Given the description of an element on the screen output the (x, y) to click on. 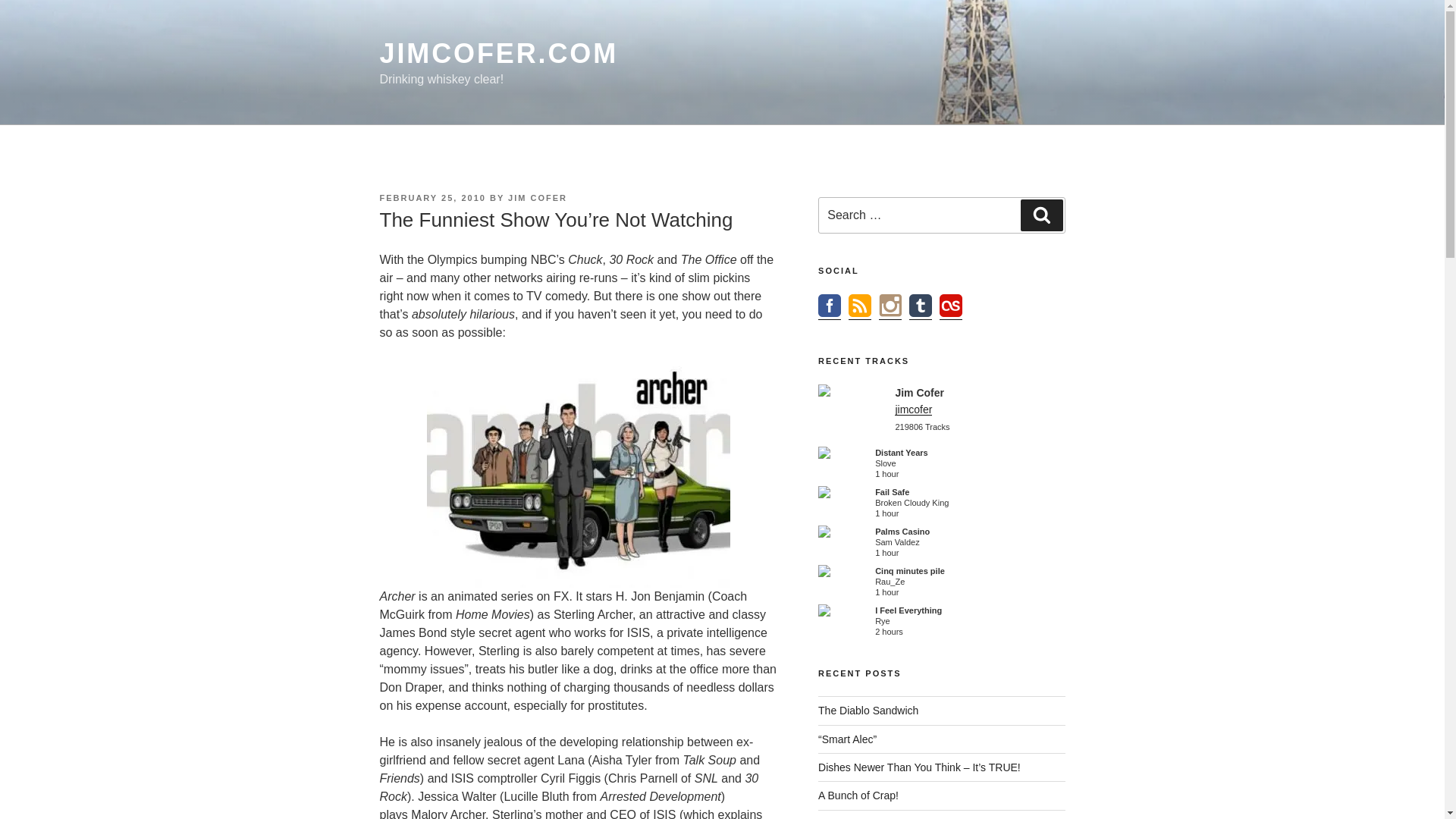
Archer (578, 474)
JIM COFER (537, 197)
FEBRUARY 25, 2010 (431, 197)
A Bunch of Crap! (858, 795)
jimcofer (913, 409)
JIMCOFER.COM (497, 52)
Search (1041, 214)
The Diablo Sandwich (868, 710)
